Given the description of an element on the screen output the (x, y) to click on. 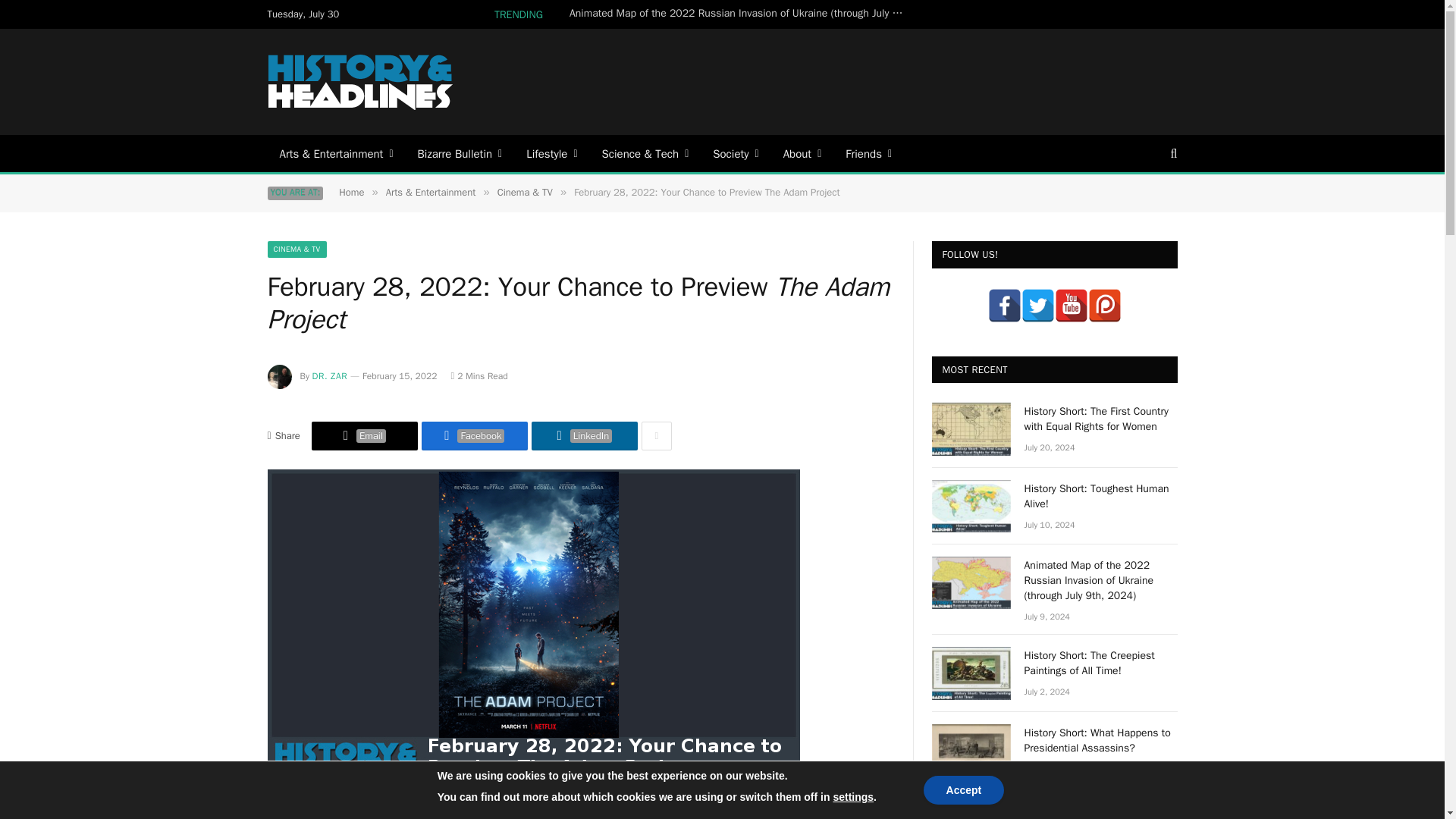
Posts by Dr. Zar (330, 376)
History and Headlines (361, 81)
Share on Facebook (474, 435)
Share via Email (364, 435)
Share on LinkedIn (584, 435)
Advertisement (900, 79)
Society (735, 153)
Bizarre Bulletin (460, 153)
Lifestyle (551, 153)
